Given the description of an element on the screen output the (x, y) to click on. 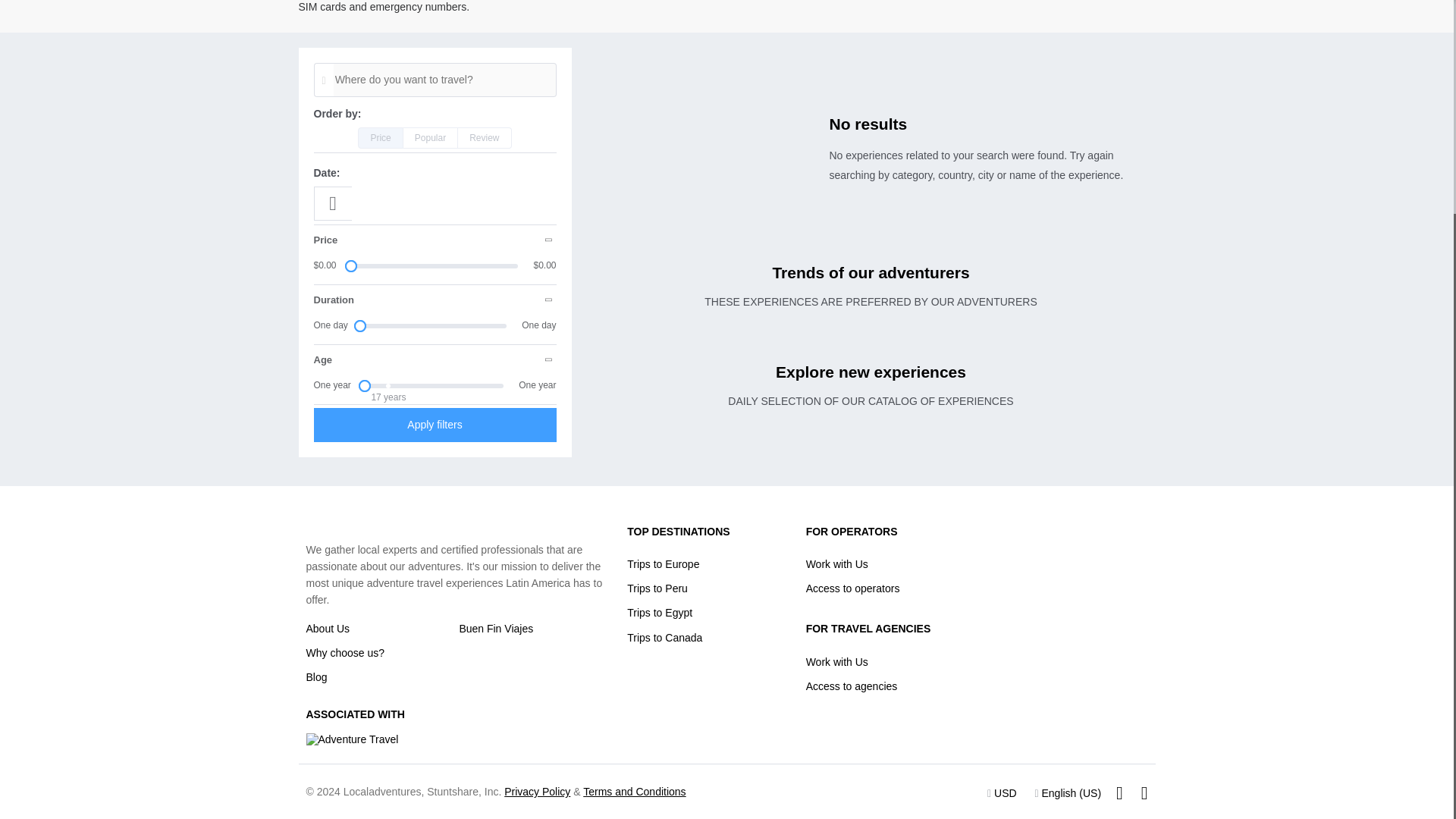
Adventure Travel (351, 739)
LocalAdventures (347, 524)
